Given the description of an element on the screen output the (x, y) to click on. 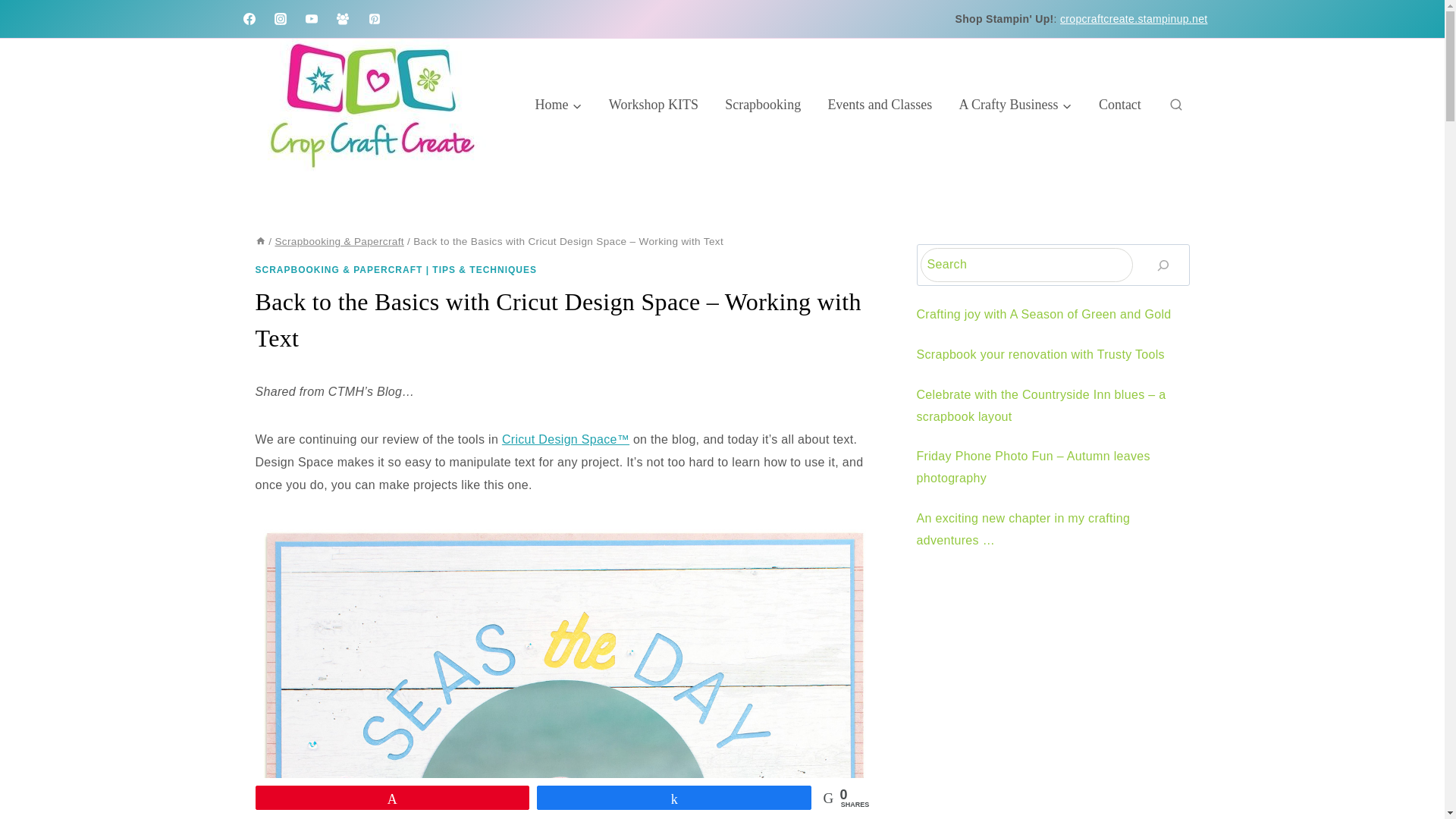
Events and Classes (878, 104)
Workshop KITS (653, 104)
Scrapbooking (762, 104)
Contact (1119, 104)
Home (259, 241)
Home (558, 104)
A Crafty Business (1014, 104)
cropcraftcreate.stampinup.net (1133, 19)
